Given the description of an element on the screen output the (x, y) to click on. 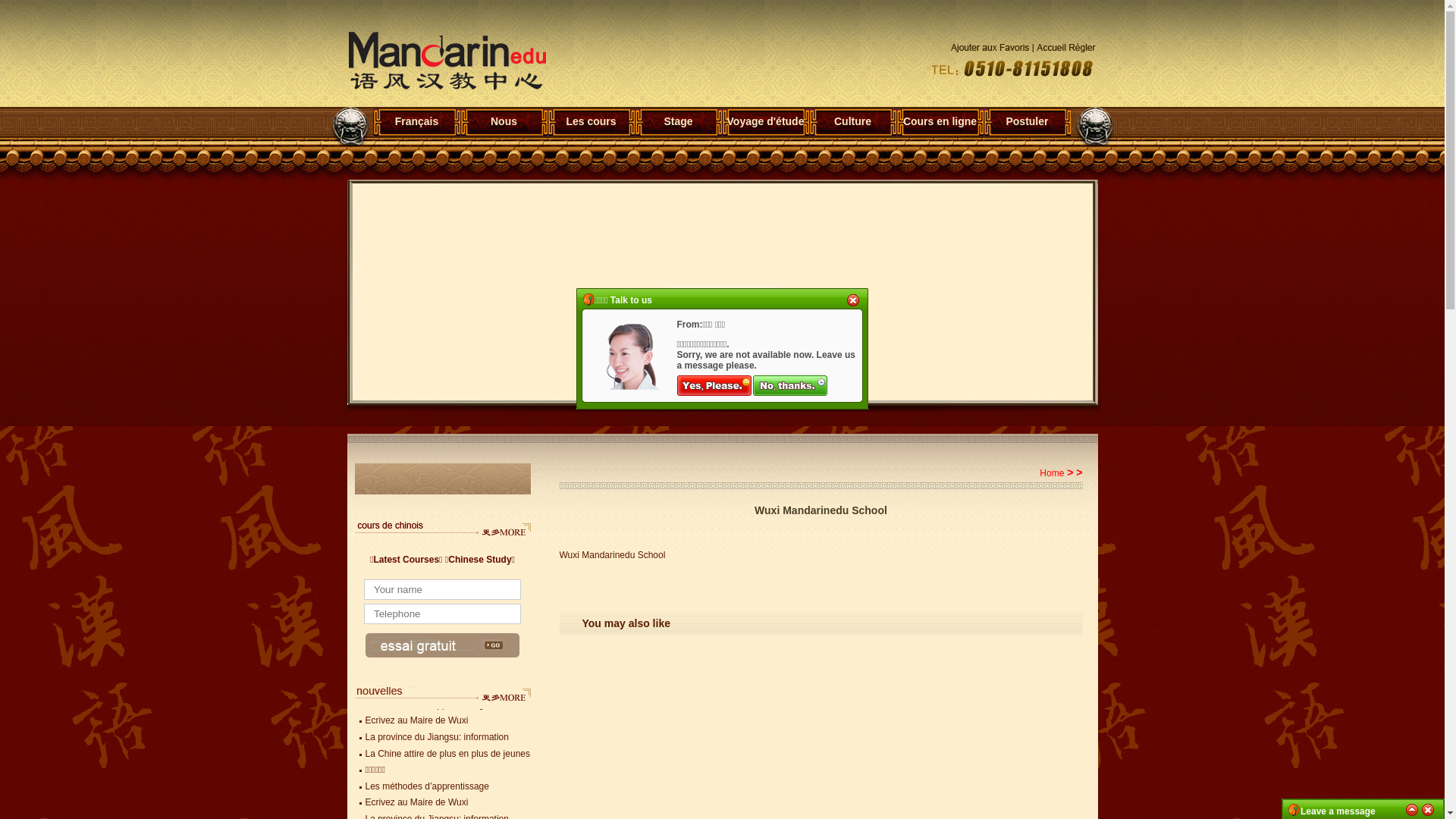
Postuler Element type: text (1026, 121)
Nous Element type: text (503, 121)
Send Element type: text (442, 645)
Culture Element type: text (852, 121)
Ecrivez au Maire de Wuxi Element type: text (416, 802)
Cours en ligne Element type: text (939, 121)
Nouvelles Element type: text (503, 692)
Les cours Element type: text (590, 121)
Home Element type: text (1051, 472)
La province du Jiangsu: information Element type: text (436, 736)
Ecrivez au Maire de Wuxi Element type: text (416, 720)
New Mandarinedu Lessons Element type: text (503, 527)
Stage Element type: text (677, 121)
